Given the description of an element on the screen output the (x, y) to click on. 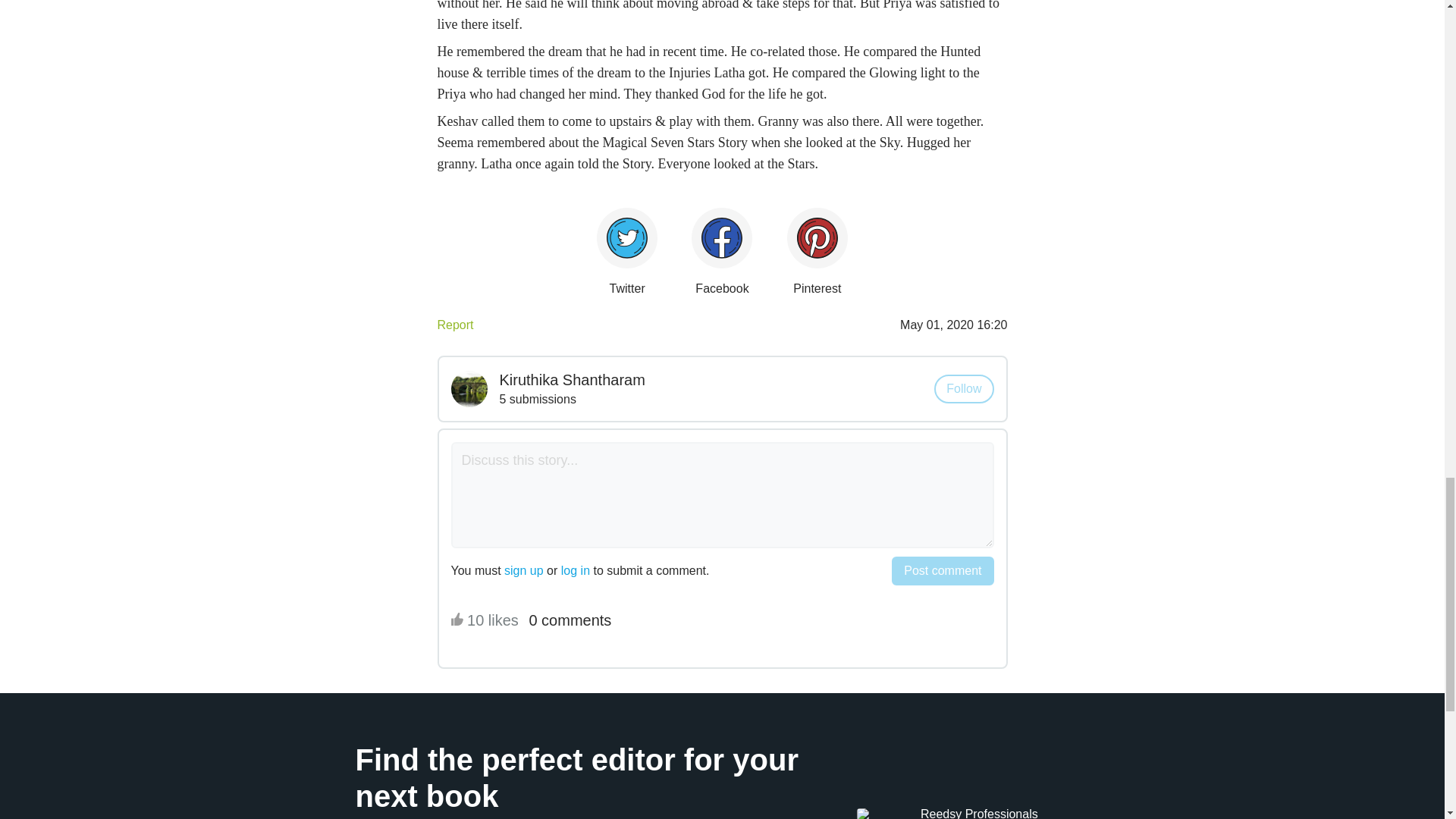
Post comment (941, 570)
